Given the description of an element on the screen output the (x, y) to click on. 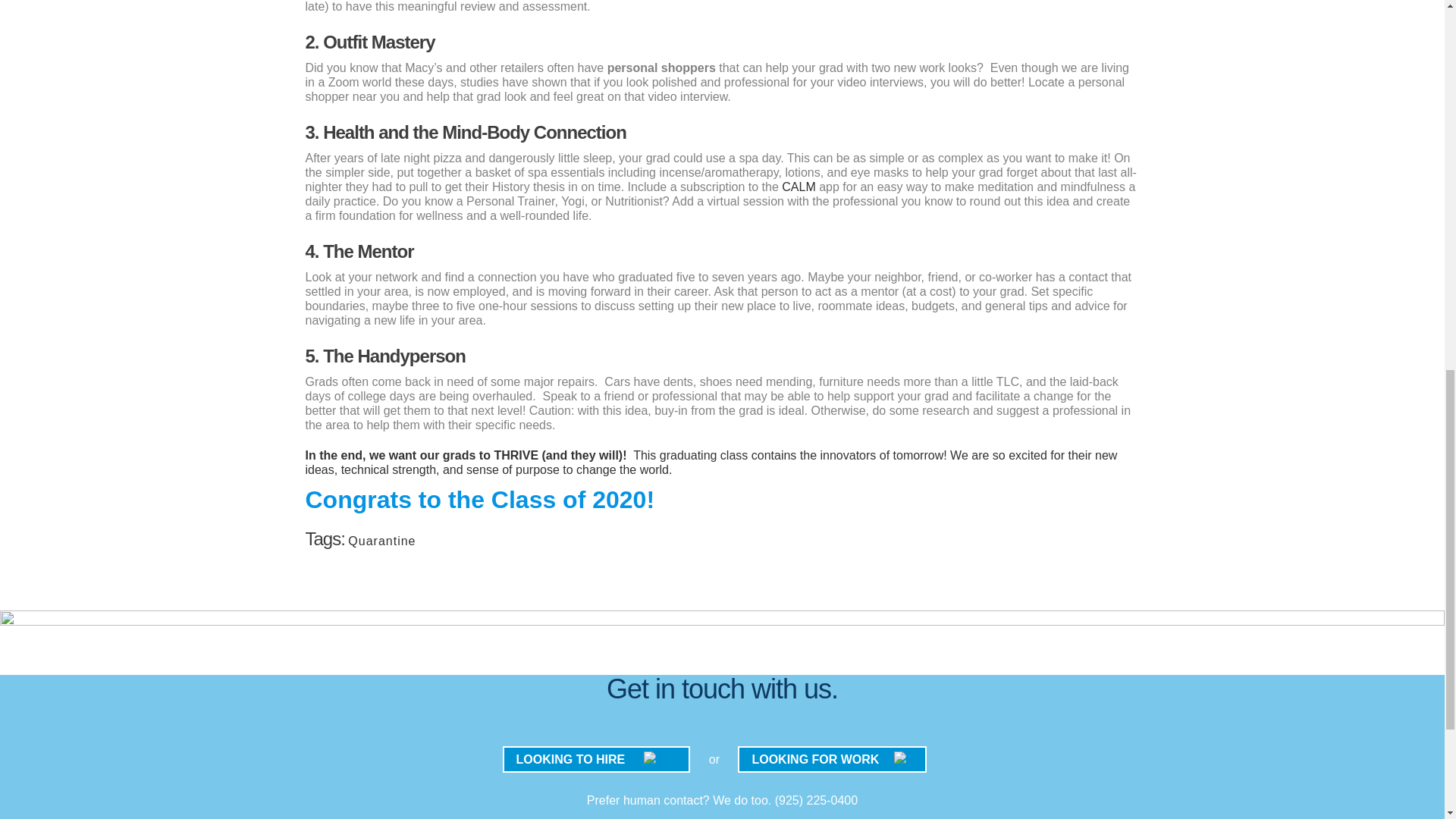
Quarantine (380, 540)
CALM (798, 186)
